Given the description of an element on the screen output the (x, y) to click on. 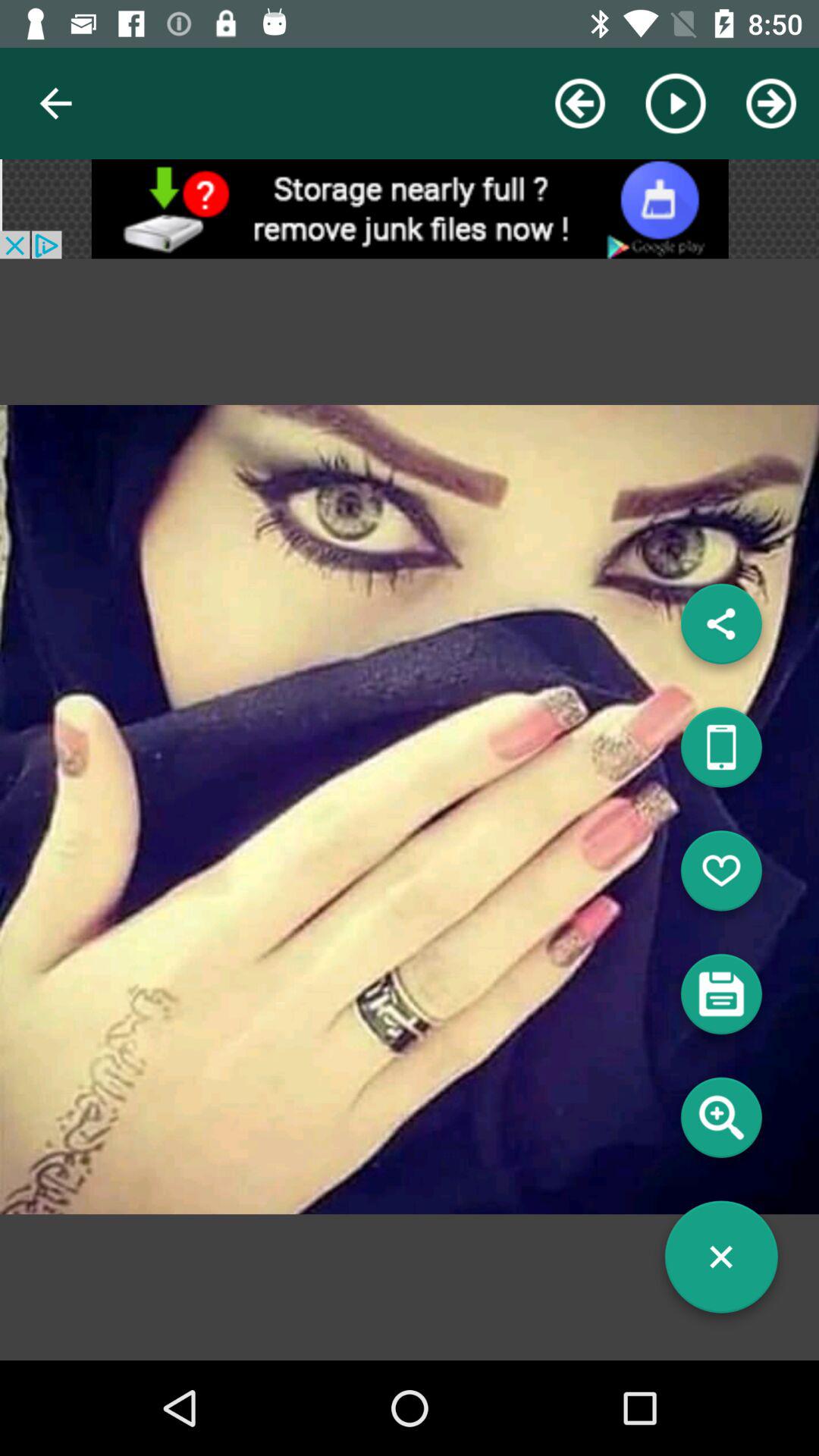
share button (721, 753)
